Given the description of an element on the screen output the (x, y) to click on. 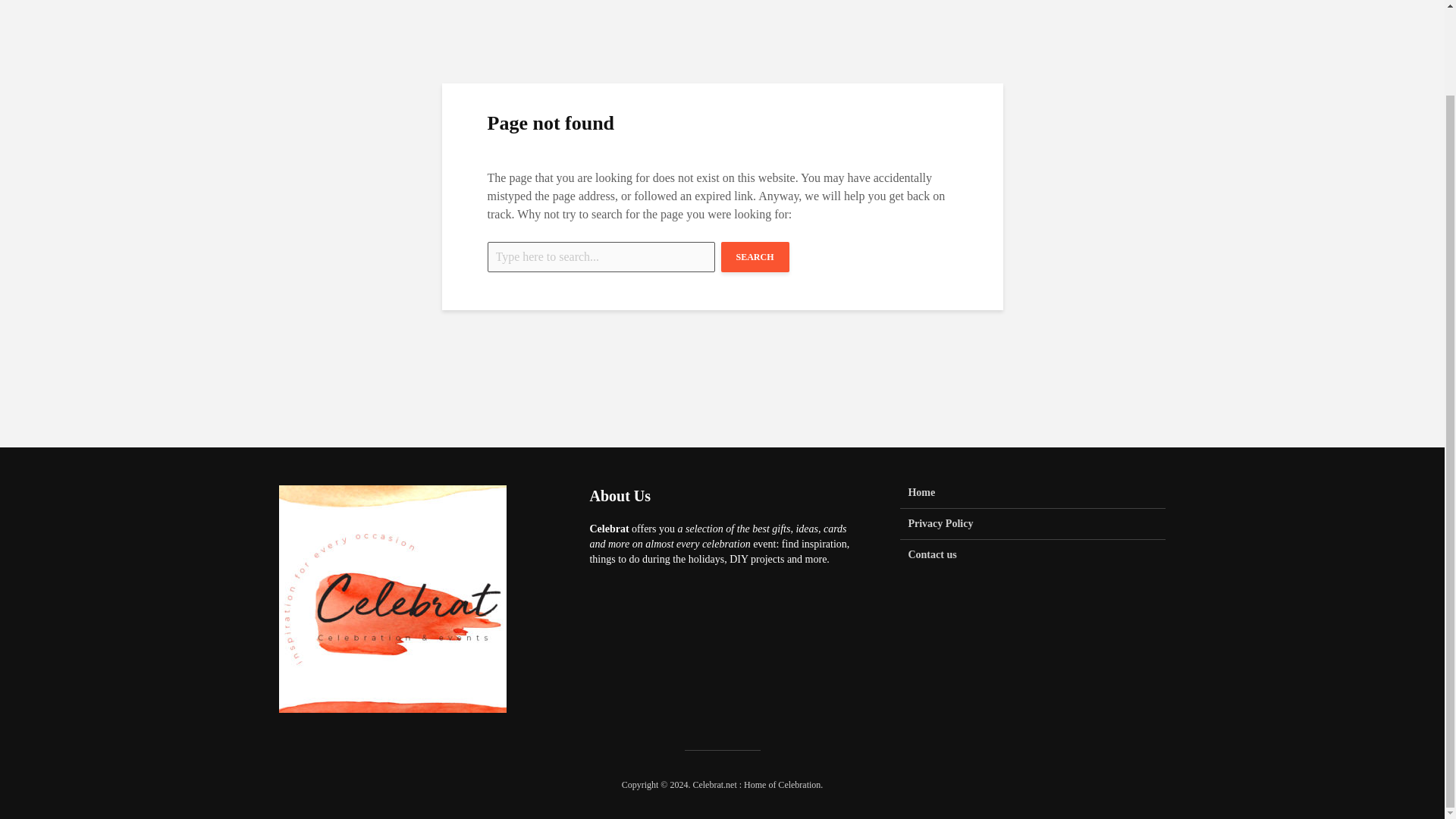
Contact us (1032, 554)
Privacy Policy (1032, 523)
SEARCH (754, 256)
Home (1032, 496)
